Given the description of an element on the screen output the (x, y) to click on. 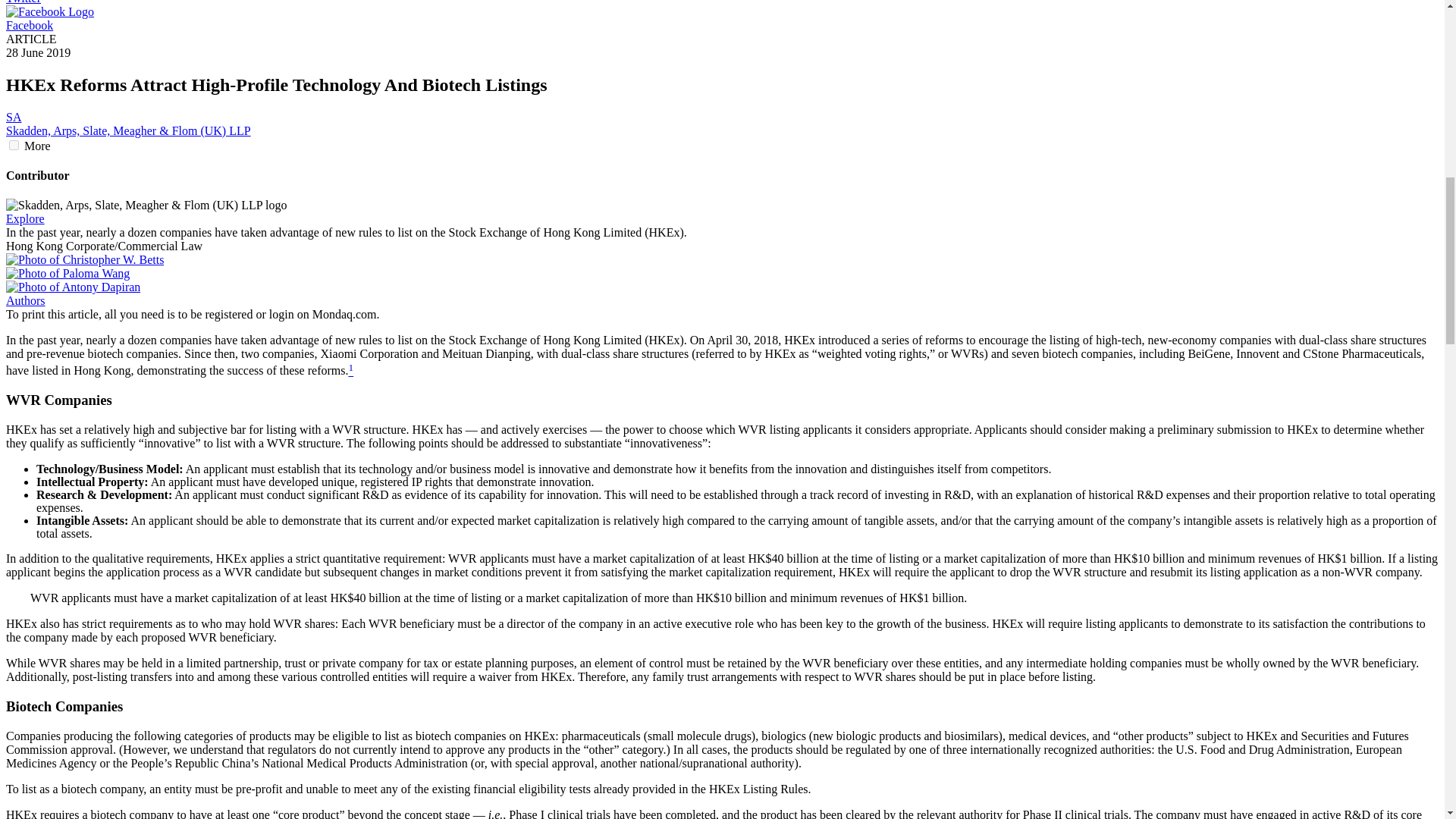
on (13, 144)
